Given the description of an element on the screen output the (x, y) to click on. 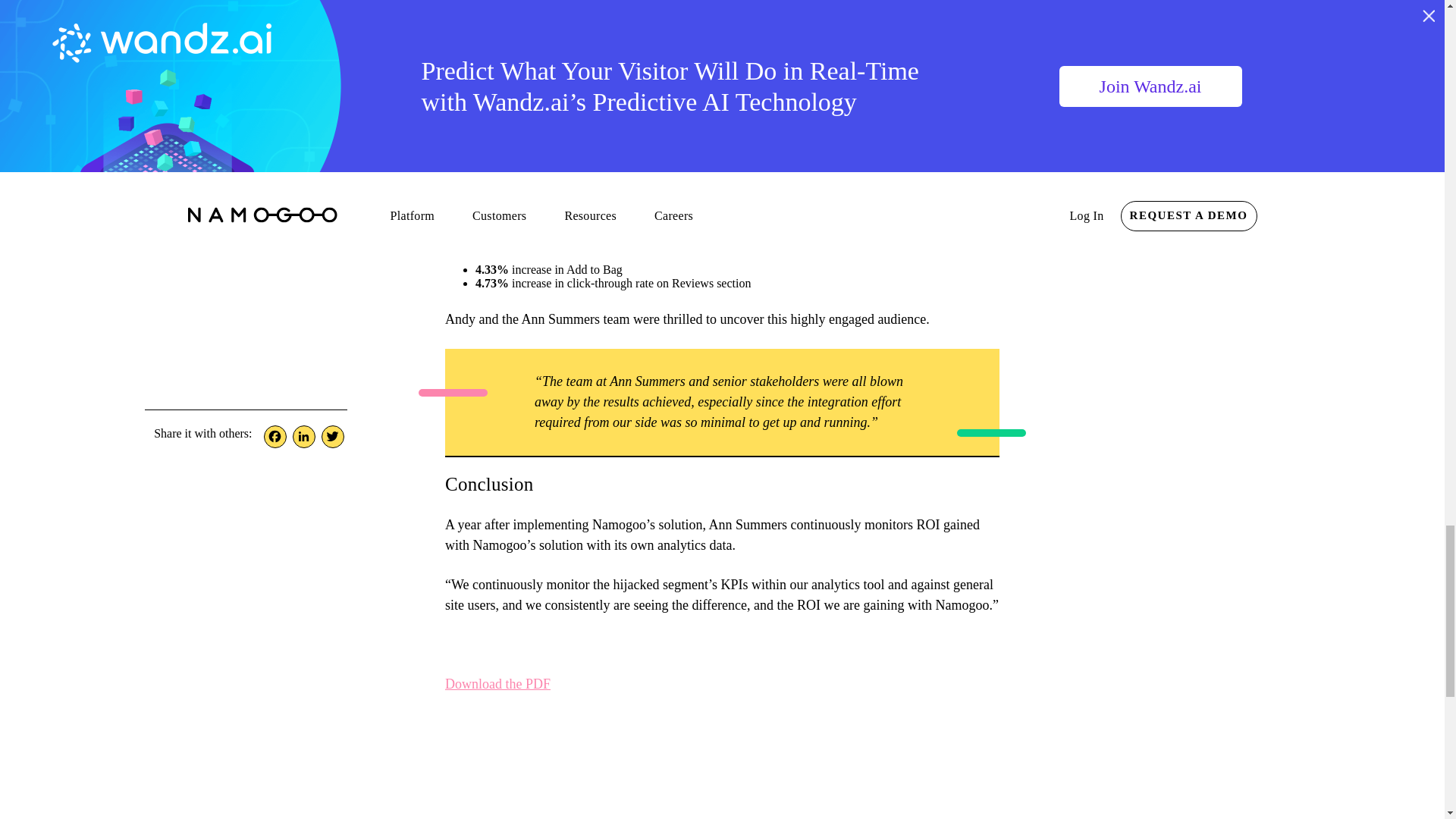
Download the PDF (497, 683)
